Given the description of an element on the screen output the (x, y) to click on. 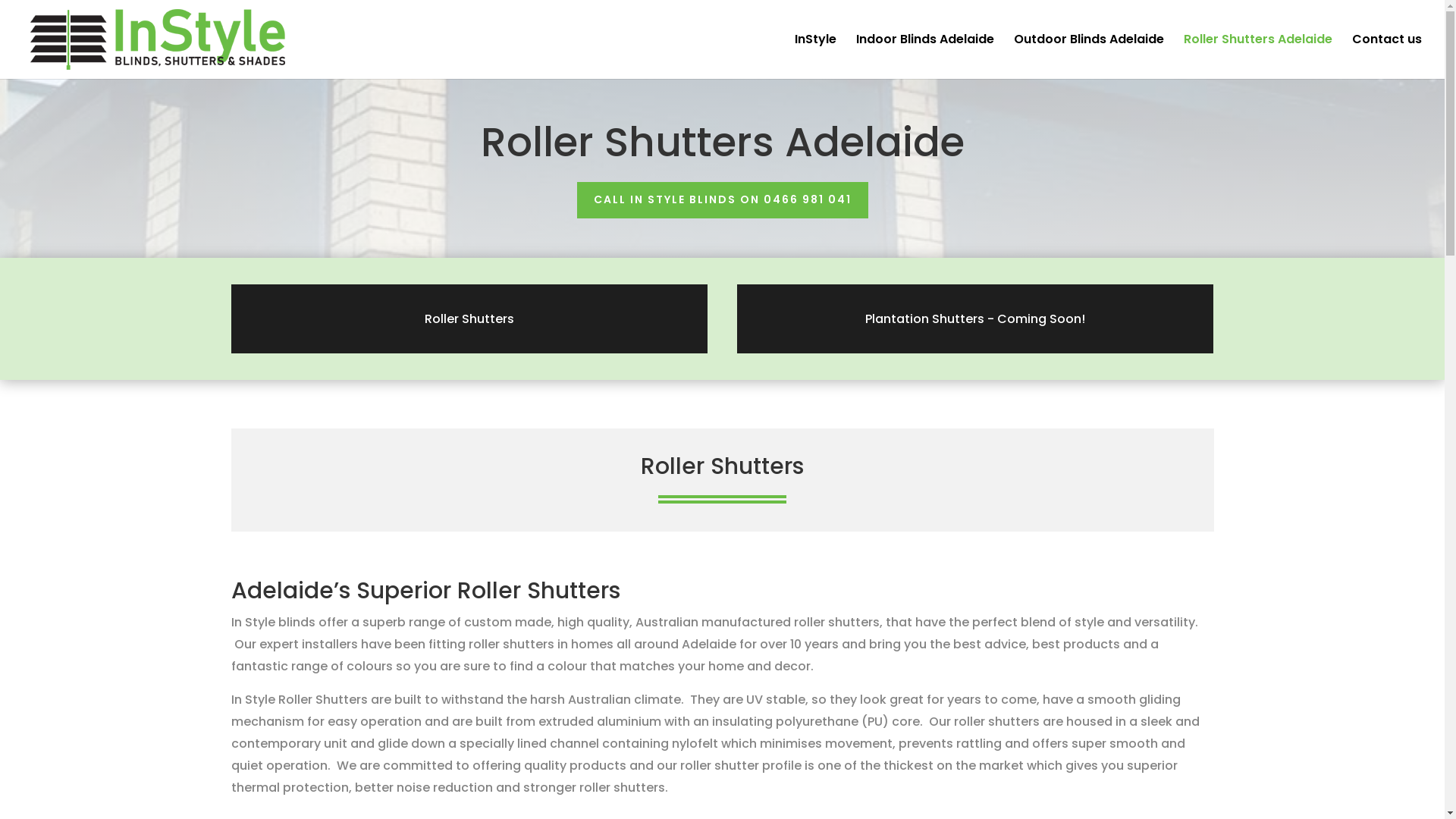
Roller Shutters Element type: text (469, 318)
Contact us Element type: text (1386, 56)
InStyle Element type: text (815, 56)
CALL IN STYLE BLINDS ON 0466 981 041 Element type: text (721, 200)
Indoor Blinds Adelaide Element type: text (925, 56)
Plantation Shutters - Coming Soon! Element type: text (975, 318)
Roller Shutters Adelaide Element type: text (1257, 56)
Outdoor Blinds Adelaide Element type: text (1088, 56)
